Given the description of an element on the screen output the (x, y) to click on. 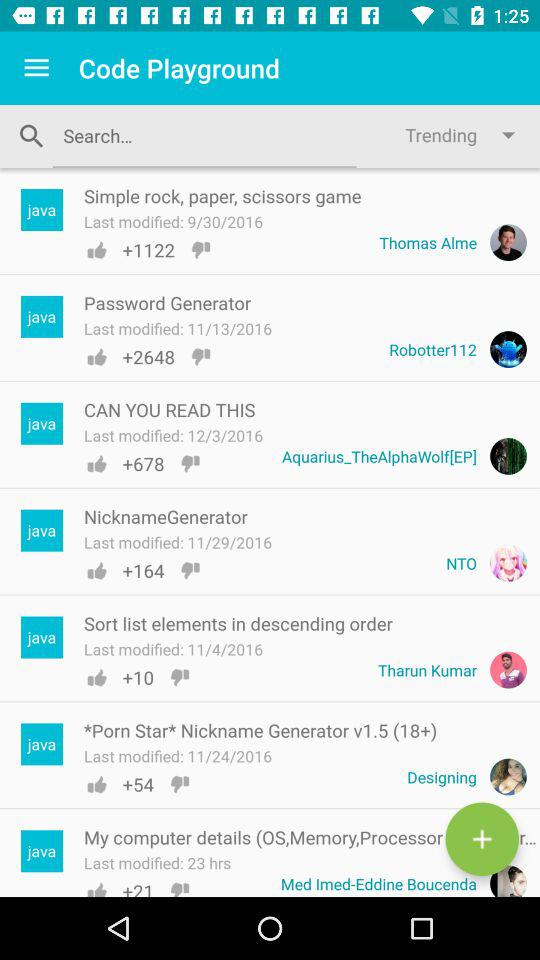
select the add (482, 839)
